Given the description of an element on the screen output the (x, y) to click on. 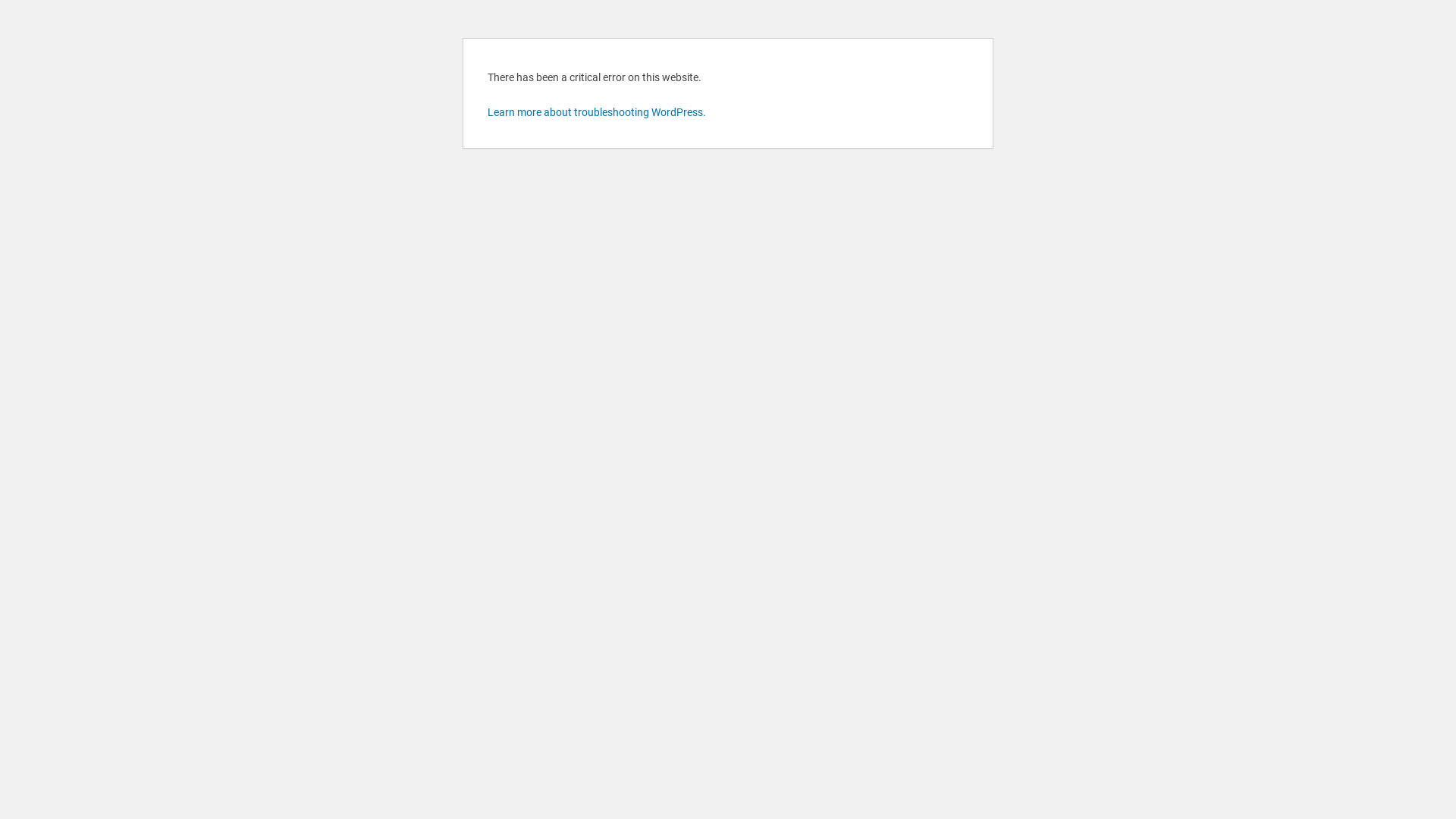
Learn more about troubleshooting WordPress. Element type: text (596, 112)
